Given the description of an element on the screen output the (x, y) to click on. 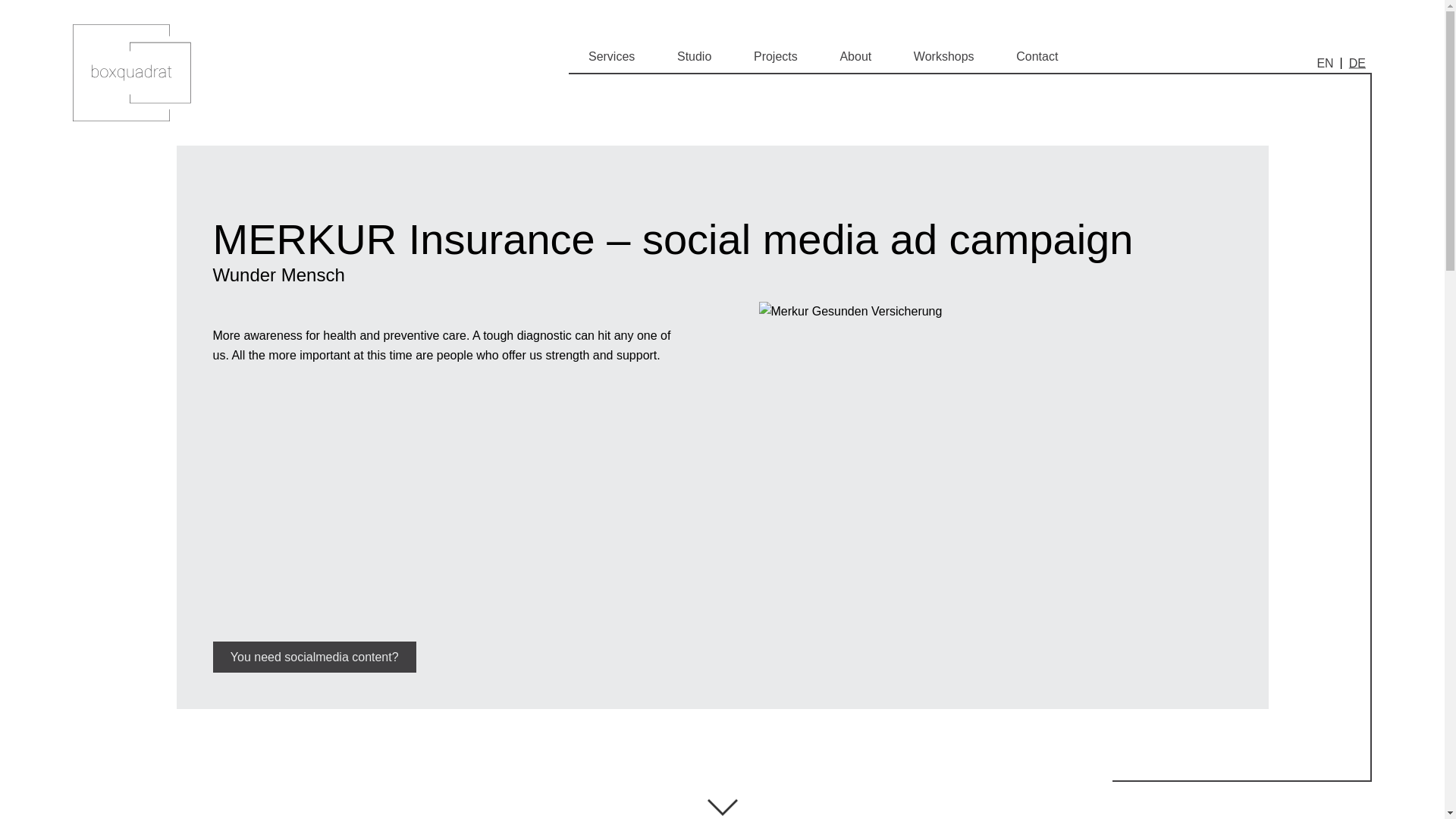
Services (611, 56)
Projects (774, 56)
Workshops (942, 56)
Studio (694, 56)
DE (1356, 62)
You need socialmedia content? (313, 656)
Contact (1037, 56)
About (856, 56)
